Given the description of an element on the screen output the (x, y) to click on. 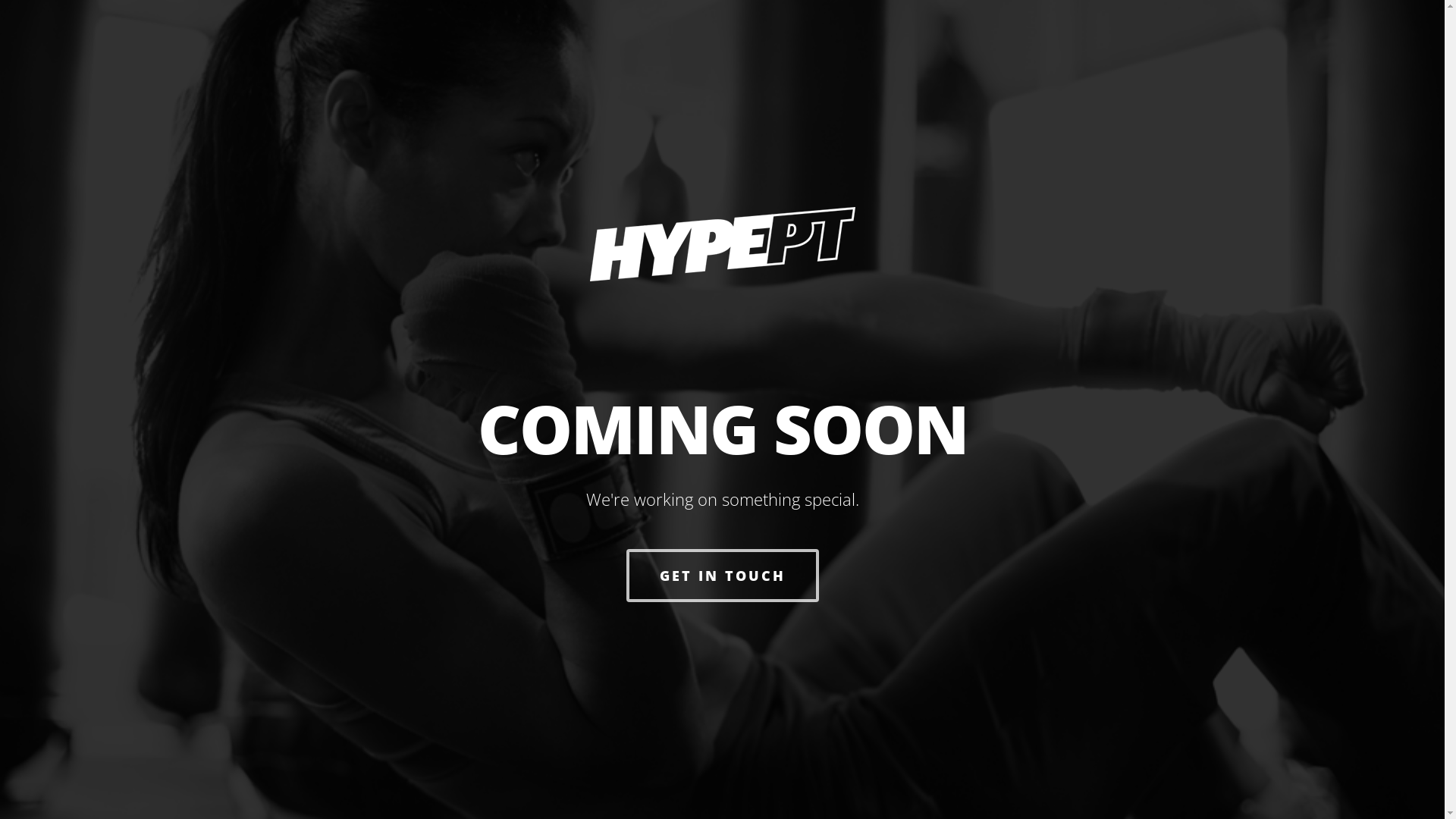
GET IN TOUCH Element type: text (722, 575)
